Given the description of an element on the screen output the (x, y) to click on. 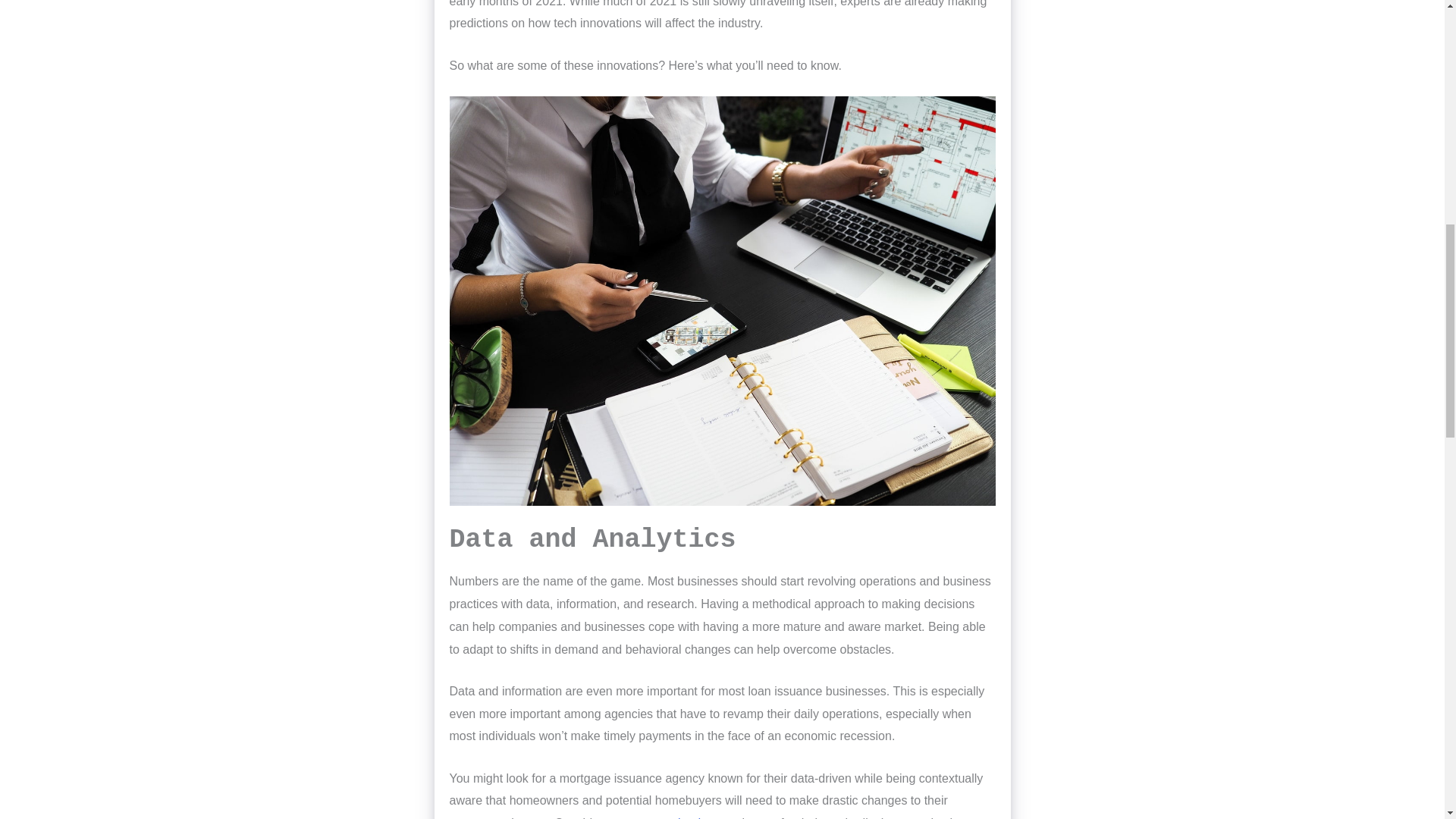
mortgage lenders (670, 817)
